Given the description of an element on the screen output the (x, y) to click on. 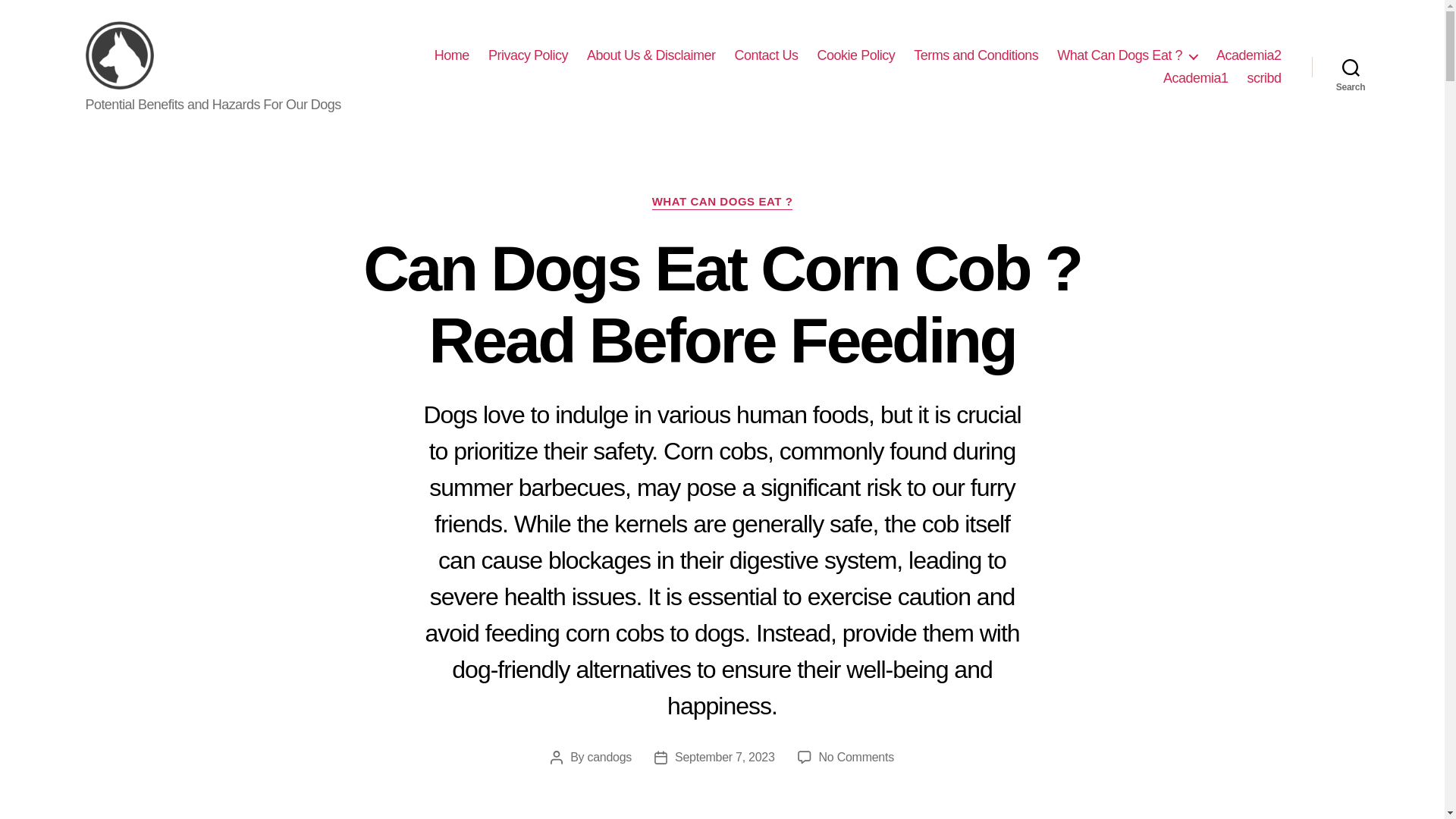
Privacy Policy (527, 55)
Search (1350, 66)
Terms and Conditions (976, 55)
Cookie Policy (855, 55)
What Can Dogs Eat ? (1126, 55)
WHAT CAN DOGS EAT ? (722, 201)
Home (450, 55)
Academia1 (1195, 77)
September 7, 2023 (724, 757)
scribd (1263, 77)
candogs (608, 757)
Contact Us (855, 757)
Academia2 (766, 55)
